Given the description of an element on the screen output the (x, y) to click on. 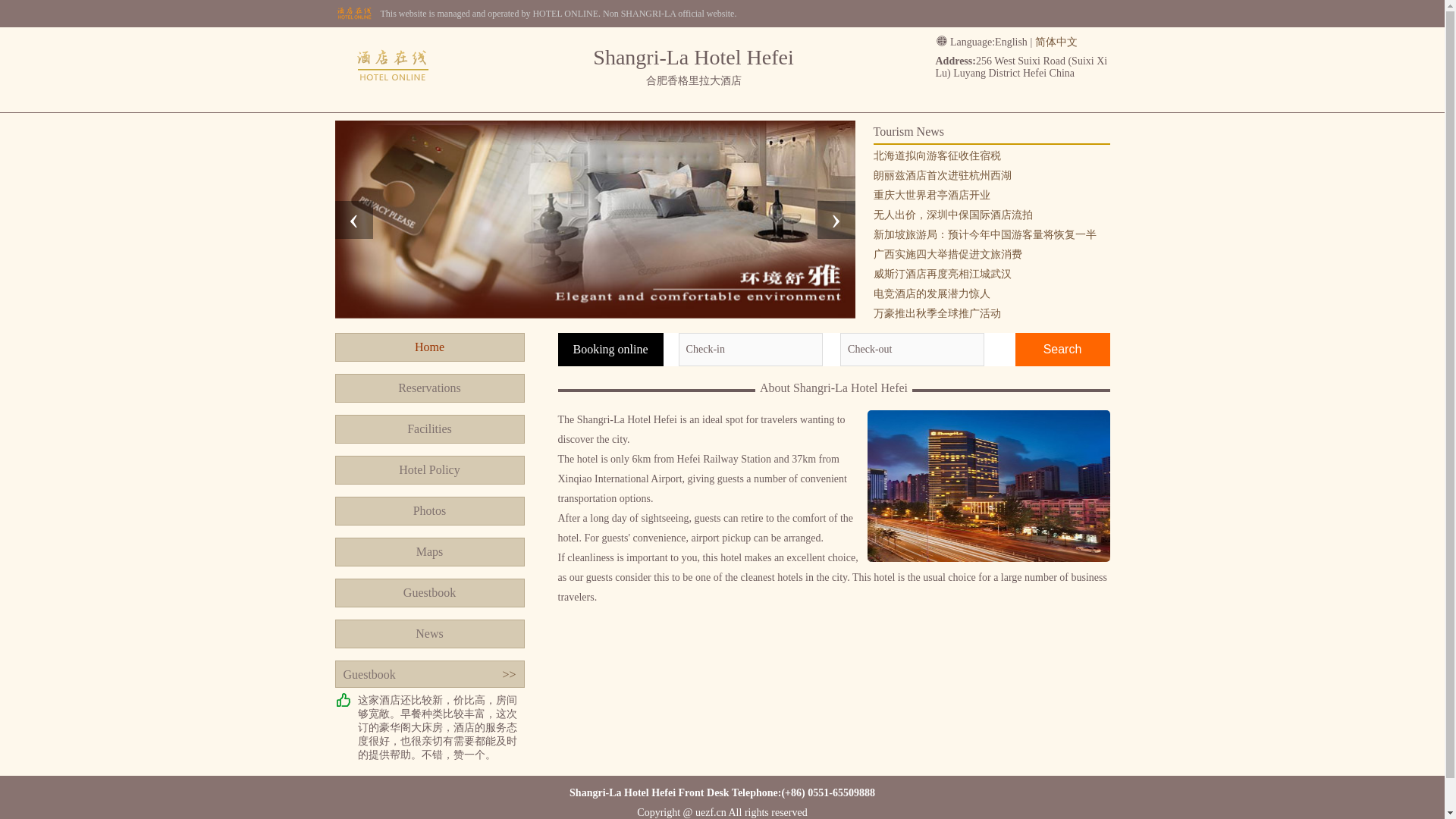
Hotel Policy (429, 469)
News (429, 633)
Guestbook (429, 592)
Shangri-La Hotel Hefei (392, 67)
Reservations (429, 387)
Facilities (429, 428)
Search (1061, 349)
Maps (429, 551)
Shangri-La Hotel Hefei (392, 97)
Shangri-La Hotel Hefei (392, 97)
